Given the description of an element on the screen output the (x, y) to click on. 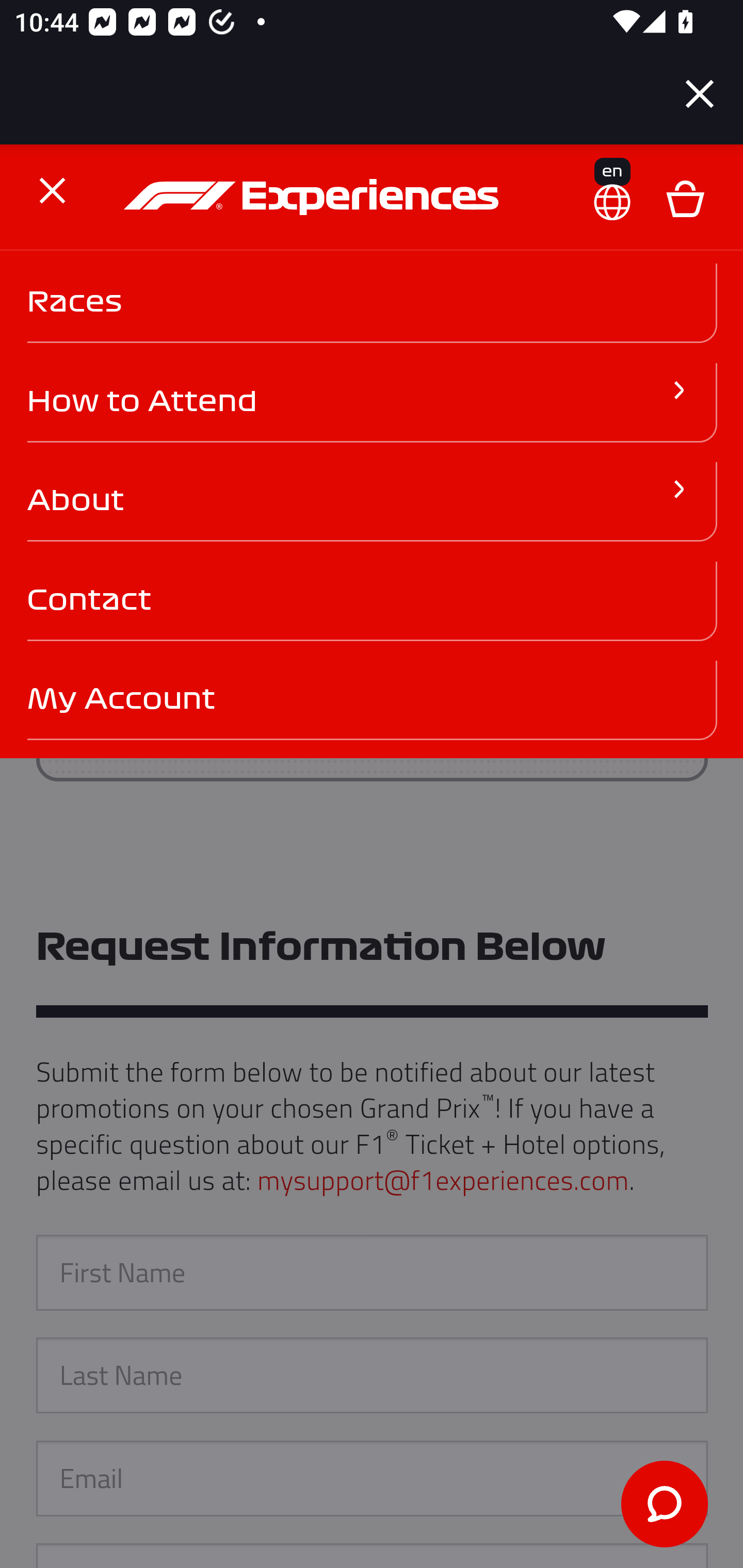
Close (699, 93)
Toggle navigation N (43, 190)
D (684, 198)
f1experiences (313, 198)
